Given the description of an element on the screen output the (x, y) to click on. 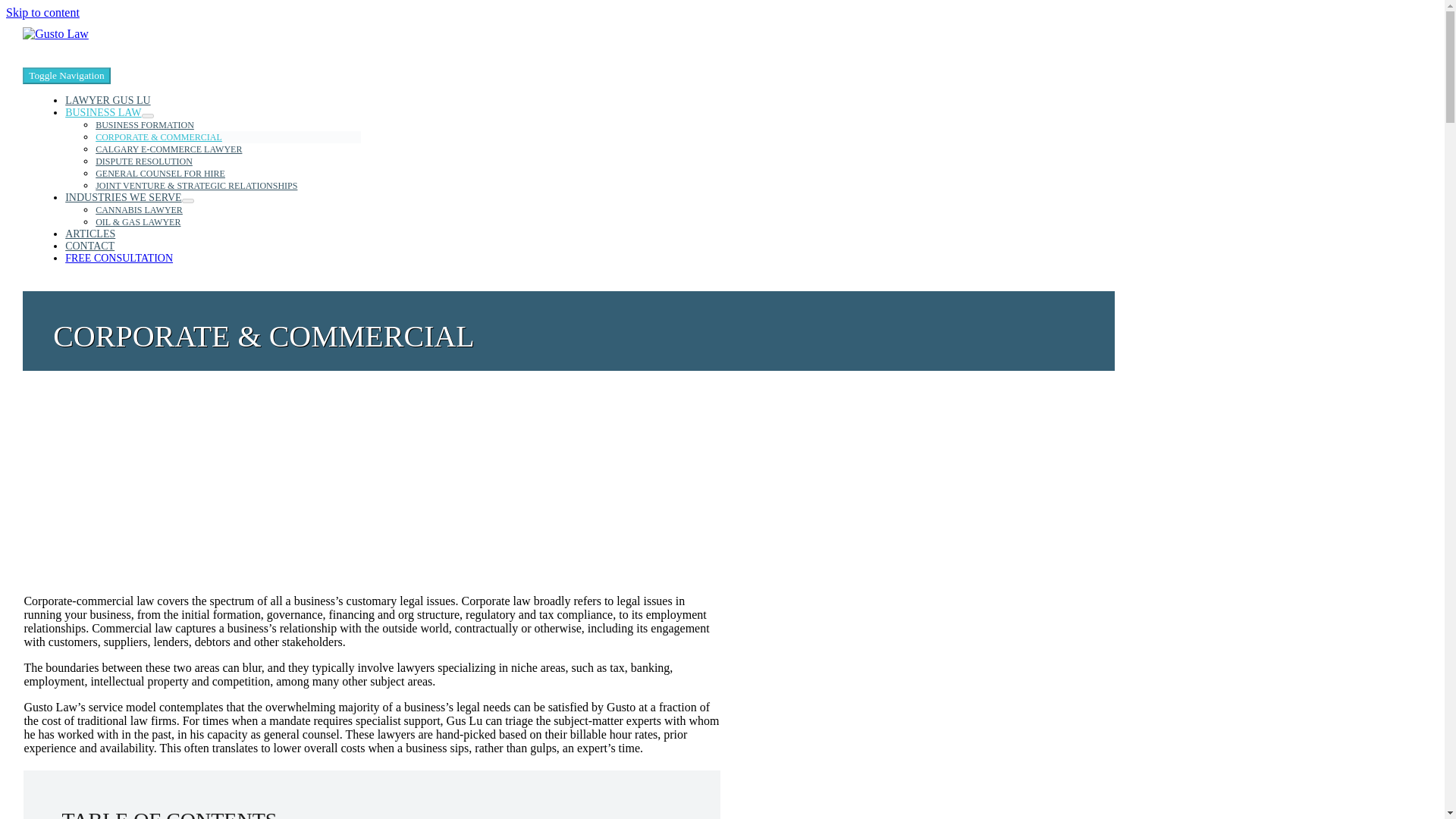
BUSINESS FORMATION (144, 119)
Skip to content (42, 11)
CANNABIS LAWYER (139, 204)
DISPUTE RESOLUTION (144, 155)
BUSINESS LAW (103, 112)
GENERAL COUNSEL FOR HIRE (160, 168)
CONTACT (90, 245)
FREE CONSULTATION (119, 257)
ARTICLES (90, 233)
Toggle Navigation (66, 75)
LAWYER GUS LU (107, 100)
CALGARY E-COMMERCE LAWYER (168, 143)
INDUSTRIES WE SERVE (122, 197)
